Given the description of an element on the screen output the (x, y) to click on. 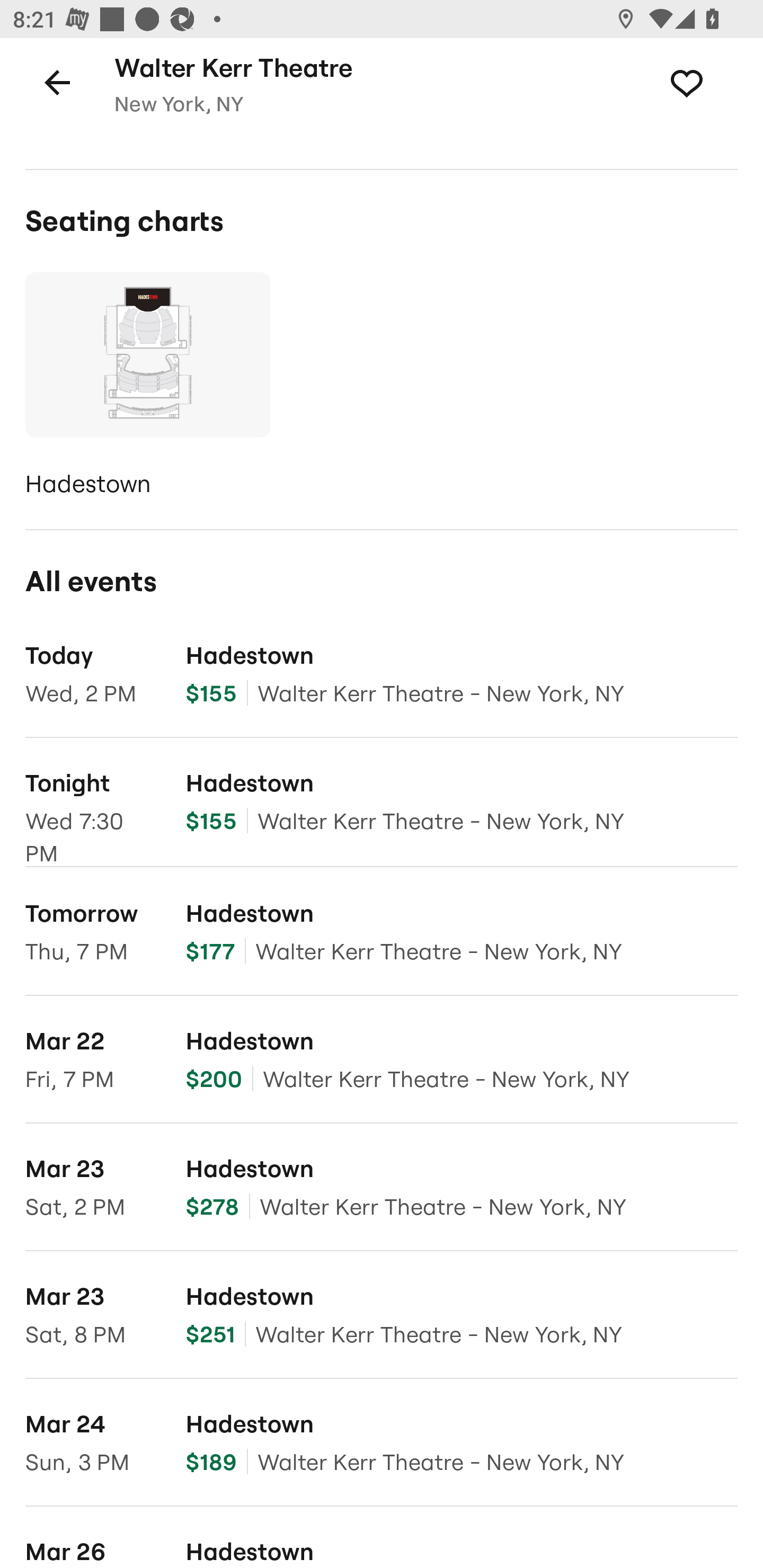
Back (57, 81)
Tracking (705, 81)
Hadestown (147, 387)
Mar 26 Hadestown (381, 1537)
